Given the description of an element on the screen output the (x, y) to click on. 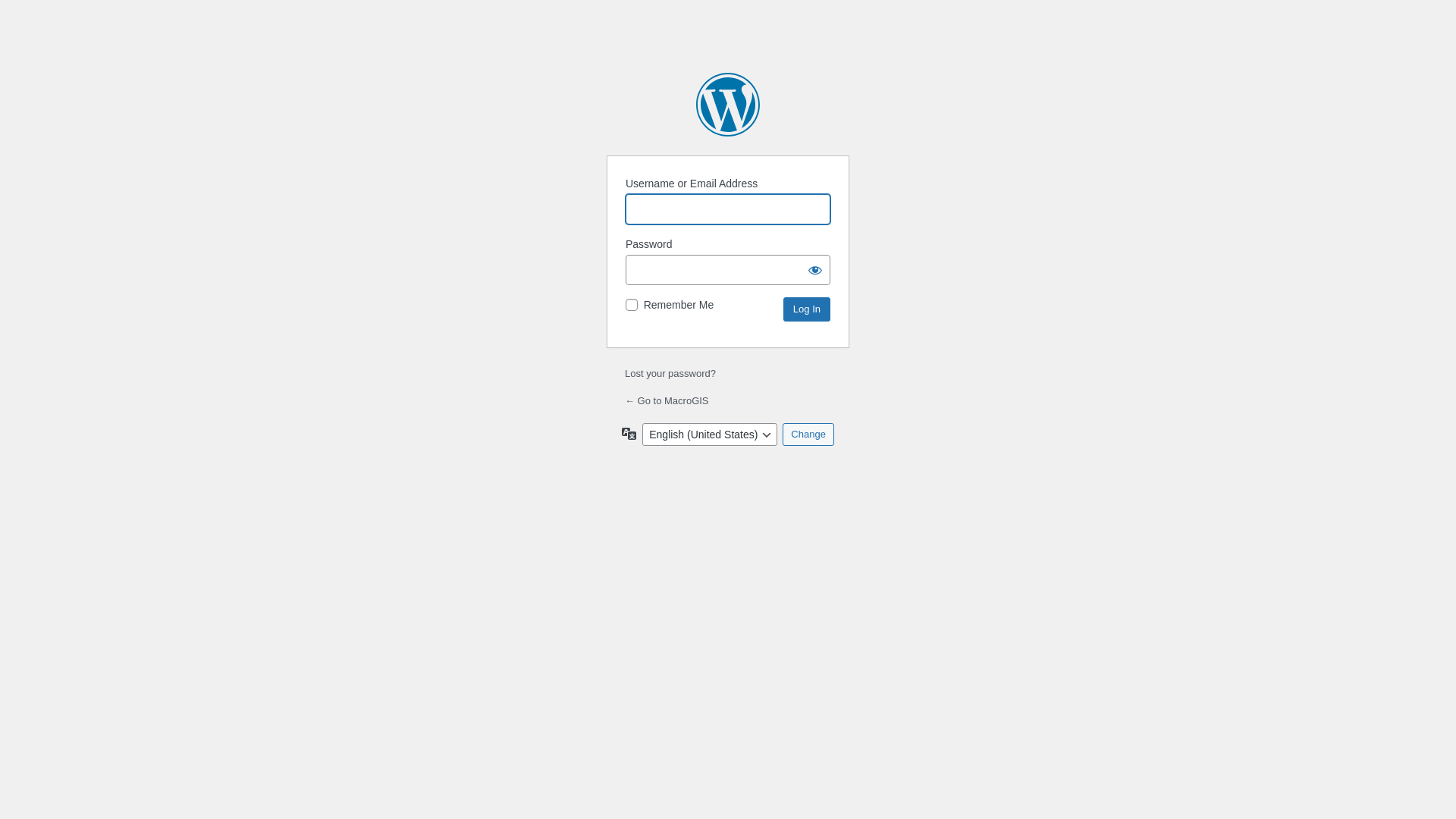
Change Element type: text (808, 434)
Log In Element type: text (806, 309)
Lost your password? Element type: text (669, 373)
Powered by WordPress Element type: text (727, 104)
